Given the description of an element on the screen output the (x, y) to click on. 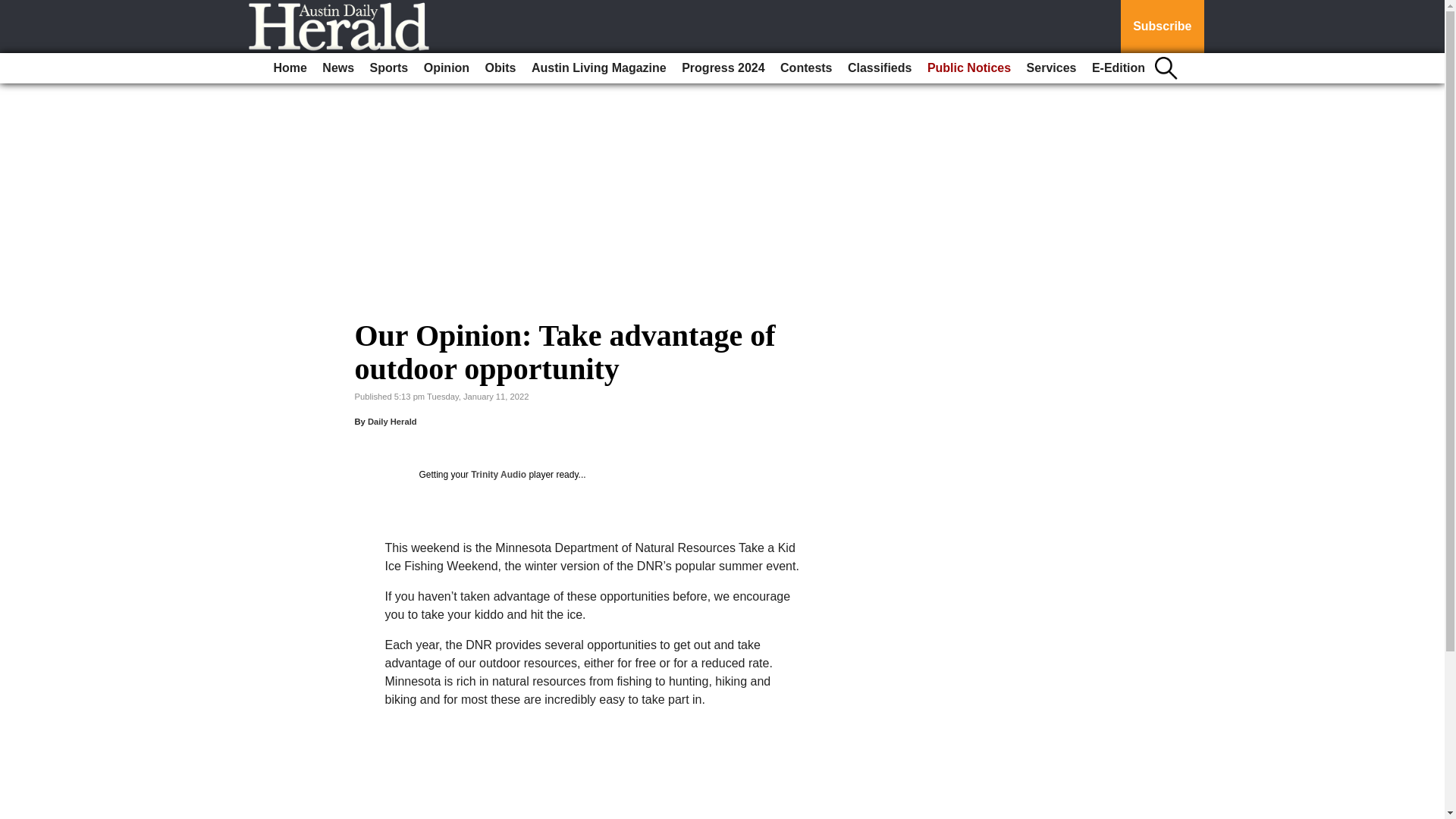
Austin Living Magazine (598, 68)
Progress 2024 (722, 68)
Contests (806, 68)
Opinion (446, 68)
Sports (389, 68)
Services (1051, 68)
News (337, 68)
Public Notices (968, 68)
Classifieds (879, 68)
Obits (500, 68)
